Given the description of an element on the screen output the (x, y) to click on. 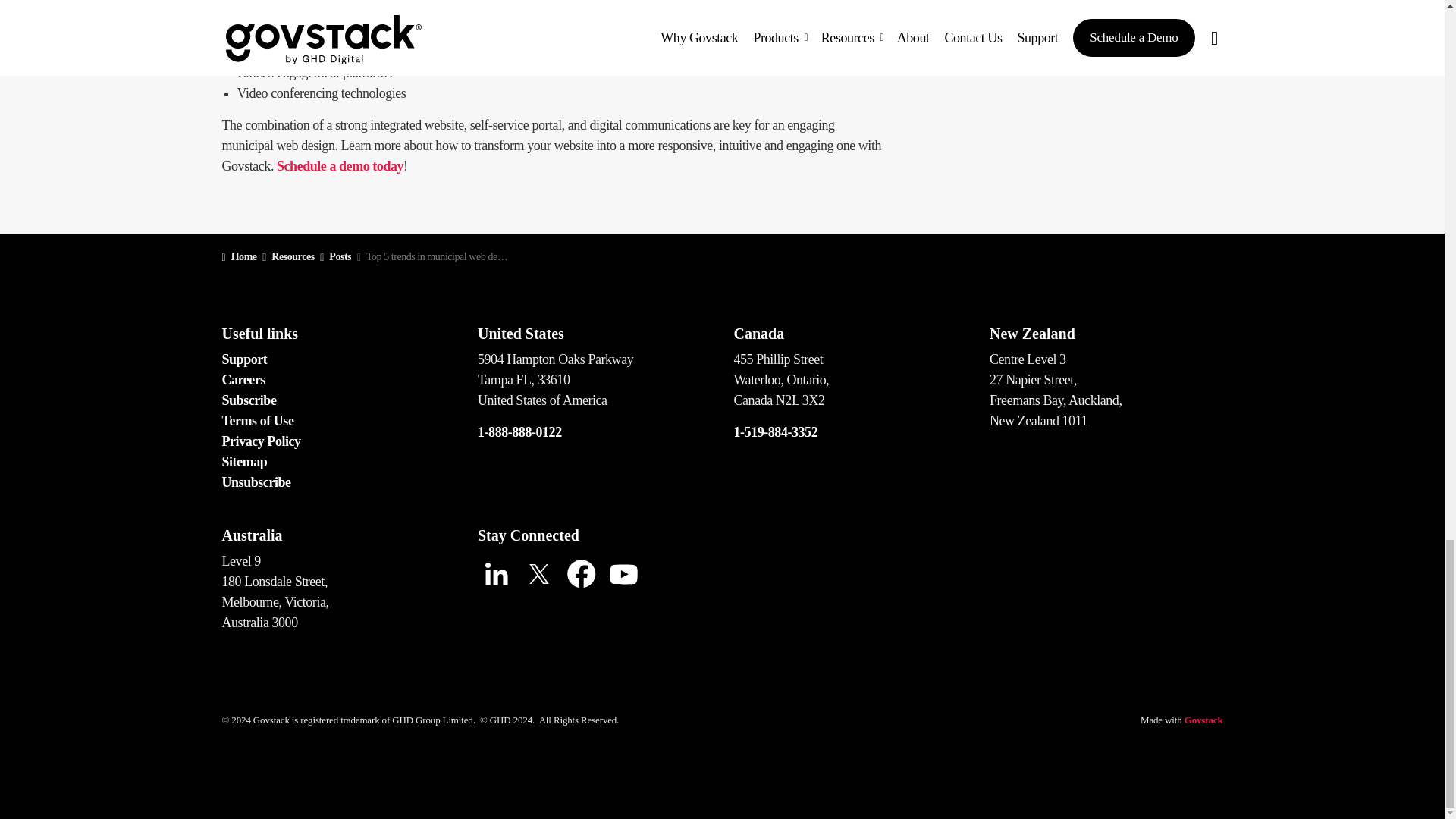
Privacy Policy (260, 441)
Subscribe (248, 400)
Unsubscribe (255, 482)
Schedule a demo today (339, 165)
Support (243, 359)
Terms of Use (257, 420)
Sitemap (243, 461)
